Given the description of an element on the screen output the (x, y) to click on. 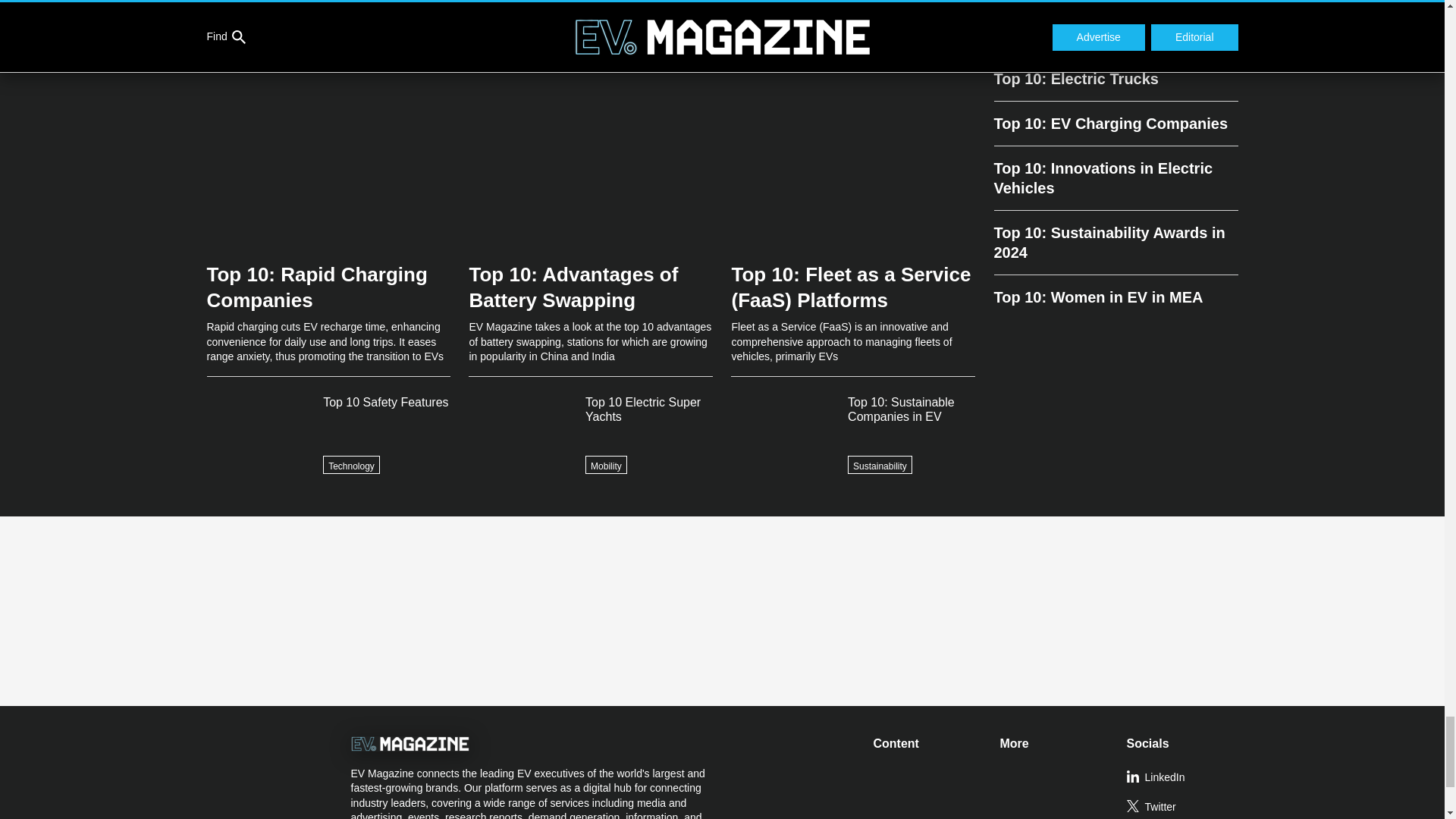
Top 10: Electric Trucks (1114, 84)
